Given the description of an element on the screen output the (x, y) to click on. 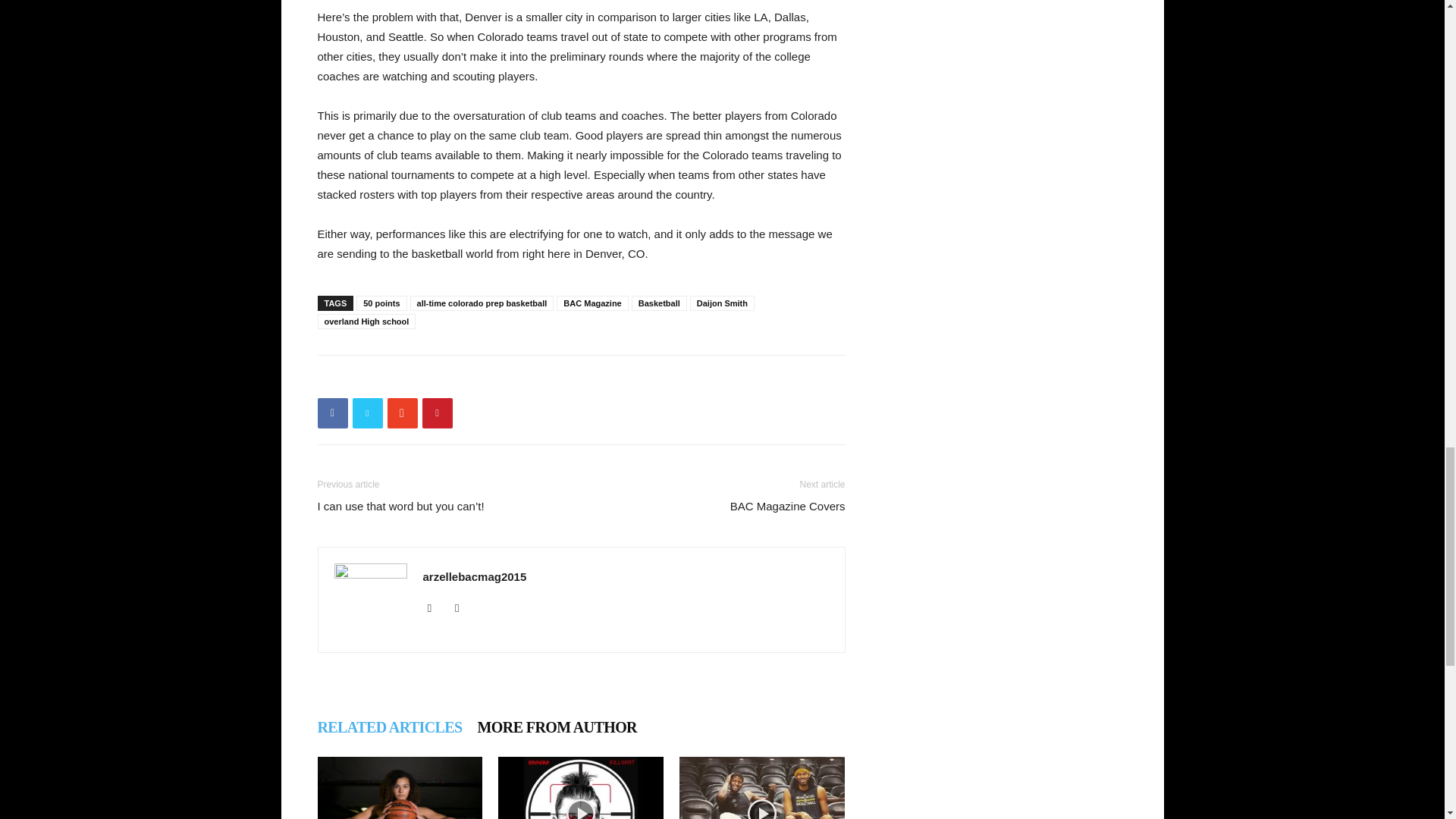
The Chris Copeland Story (761, 787)
Flickr (435, 607)
Who Won the battle? Vote (580, 787)
The Life of a Female Champion? (399, 787)
Instagram (462, 607)
